Given the description of an element on the screen output the (x, y) to click on. 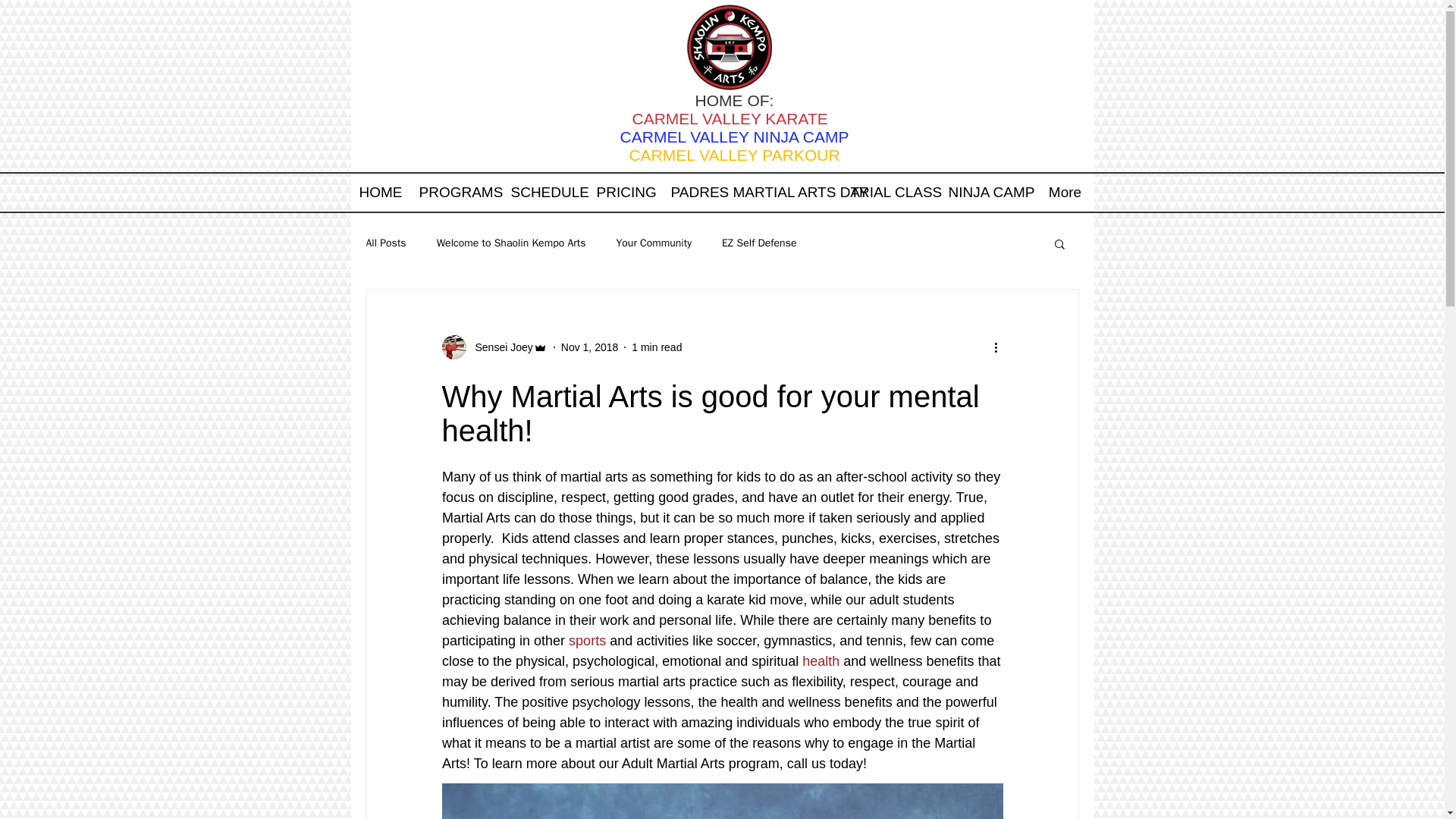
Nov 1, 2018 (589, 346)
NINJA CAMP (987, 192)
HOME (380, 192)
PADRES MARTIAL ARTS DAY (752, 192)
PRICING (625, 192)
TRIAL CLASS (890, 192)
All Posts (385, 243)
1 min read (656, 346)
SCHEDULE (545, 192)
PROGRAMS (456, 192)
Sensei Joey (498, 347)
